Given the description of an element on the screen output the (x, y) to click on. 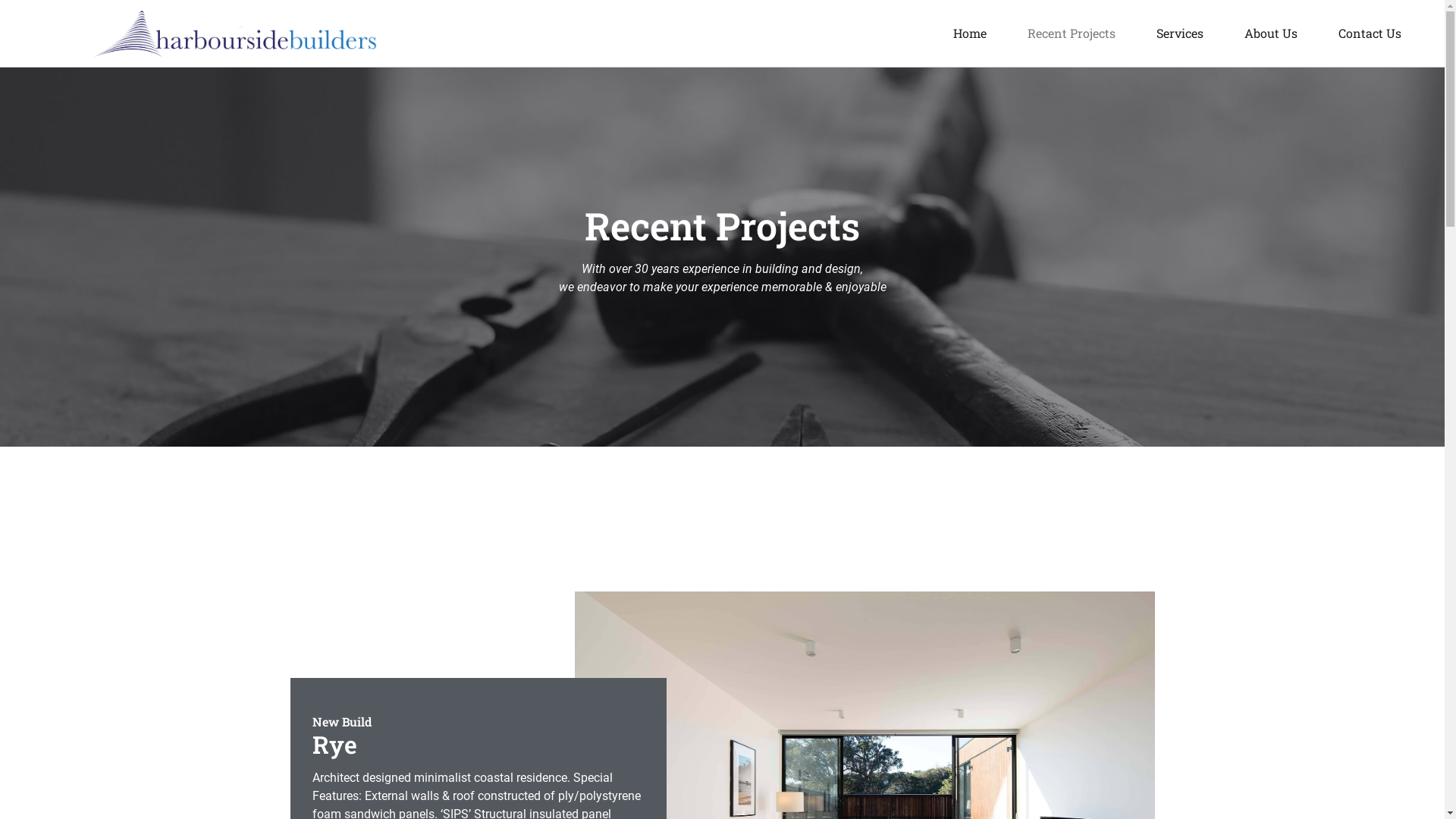
Services Element type: text (1179, 32)
Contact Us Element type: text (1369, 32)
About Us Element type: text (1270, 32)
Recent Projects Element type: text (1071, 32)
Home Element type: text (969, 32)
